Given the description of an element on the screen output the (x, y) to click on. 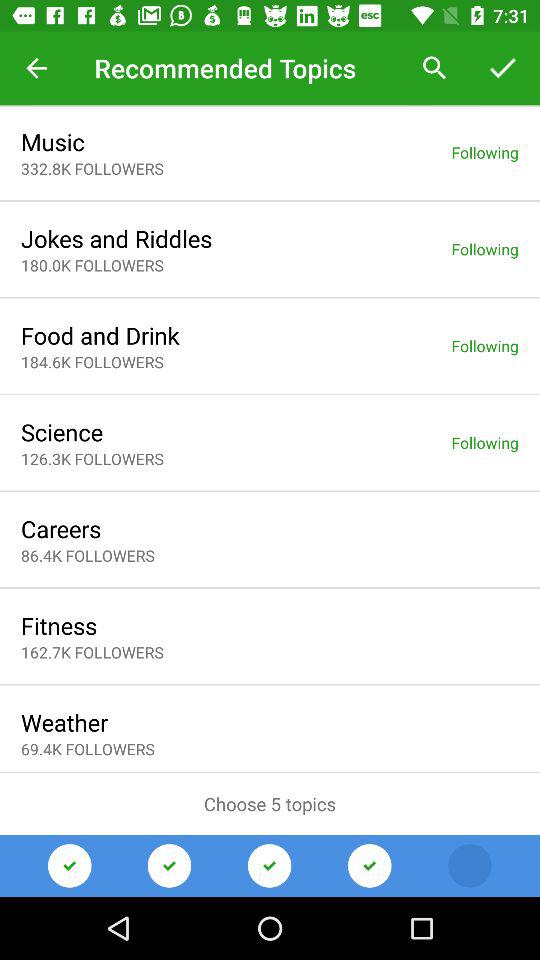
open the icon next to the recommended topics item (434, 67)
